Given the description of an element on the screen output the (x, y) to click on. 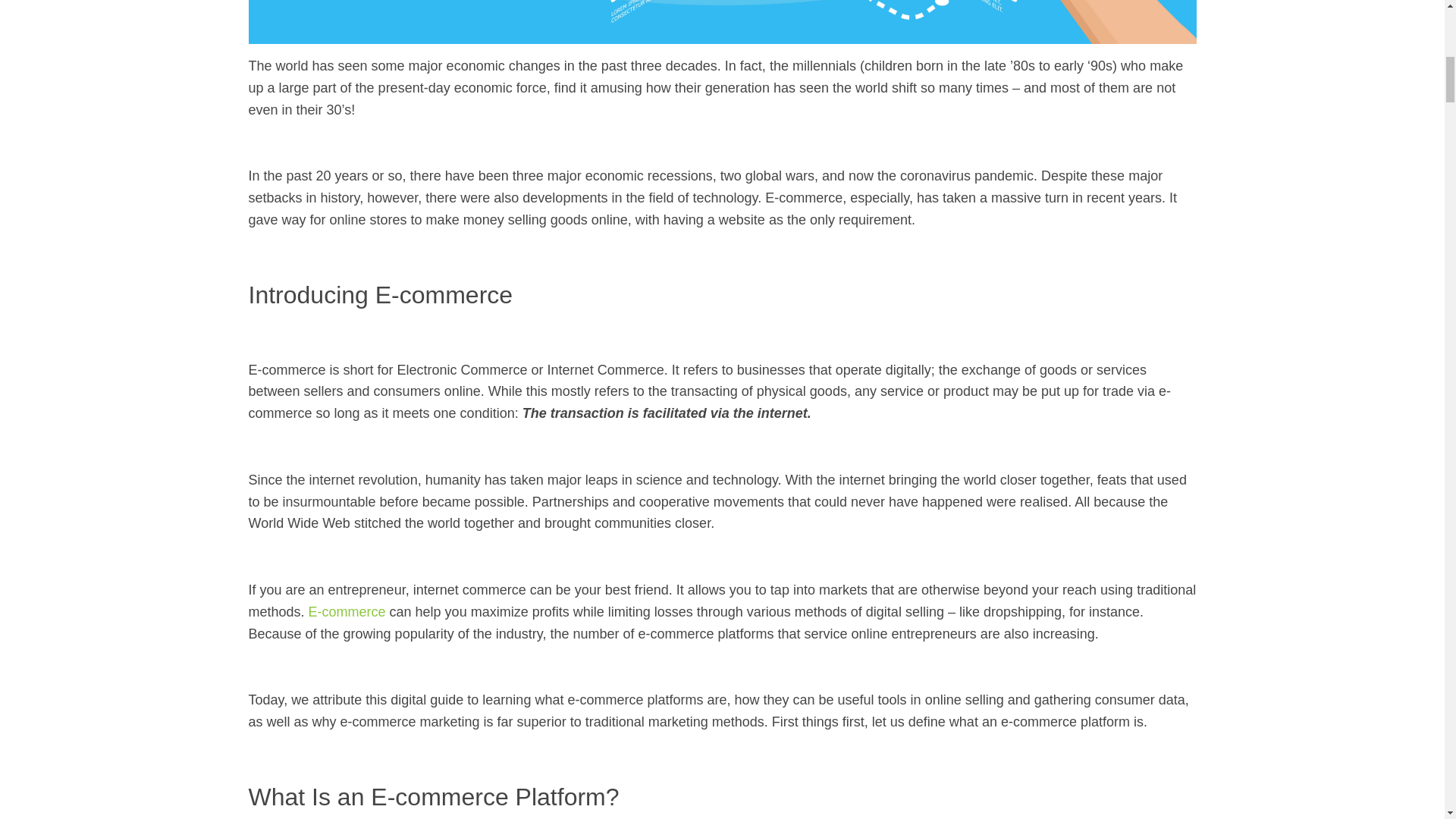
E-commerce (346, 611)
